Given the description of an element on the screen output the (x, y) to click on. 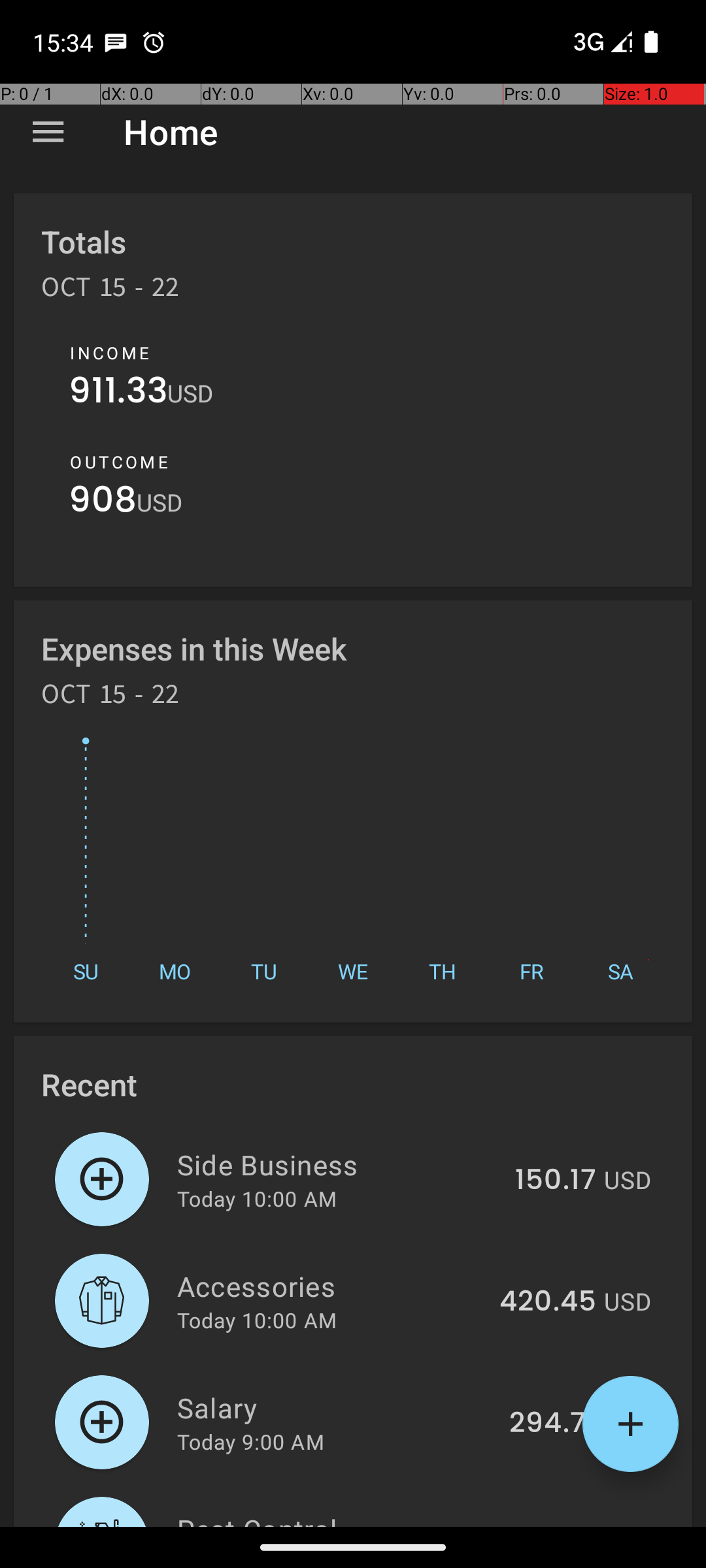
911.33 Element type: android.widget.TextView (117, 393)
908 Element type: android.widget.TextView (102, 502)
Side Business Element type: android.widget.TextView (338, 1164)
Today 10:00 AM Element type: android.widget.TextView (256, 1198)
150.17 Element type: android.widget.TextView (555, 1180)
420.45 Element type: android.widget.TextView (547, 1301)
Salary Element type: android.widget.TextView (335, 1407)
294.71 Element type: android.widget.TextView (552, 1423)
125.06 Element type: android.widget.TextView (551, 1524)
